Given the description of an element on the screen output the (x, y) to click on. 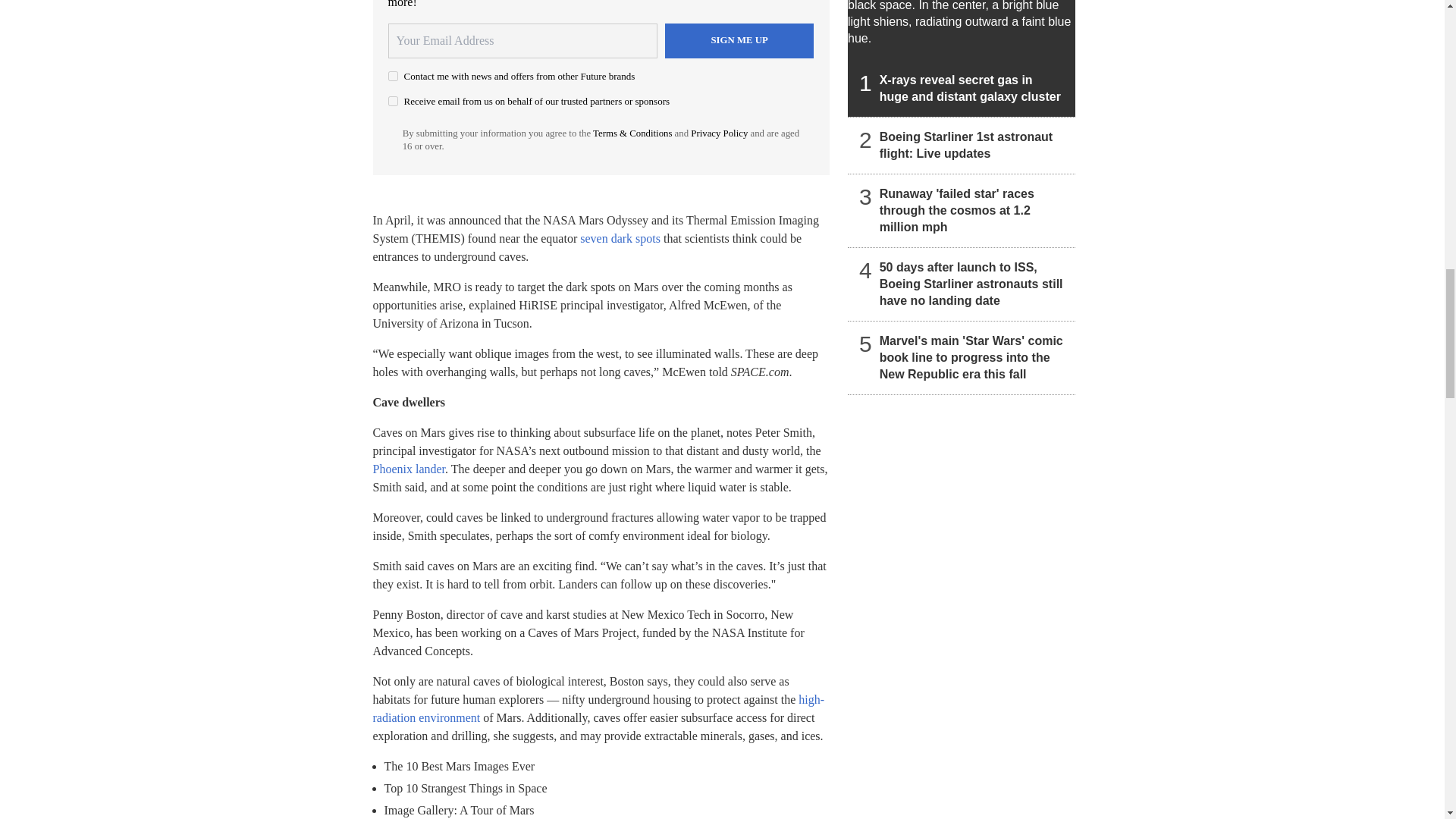
X-rays reveal secret gas in huge and distant galaxy cluster  (961, 58)
on (392, 76)
Sign me up (739, 40)
on (392, 101)
